Given the description of an element on the screen output the (x, y) to click on. 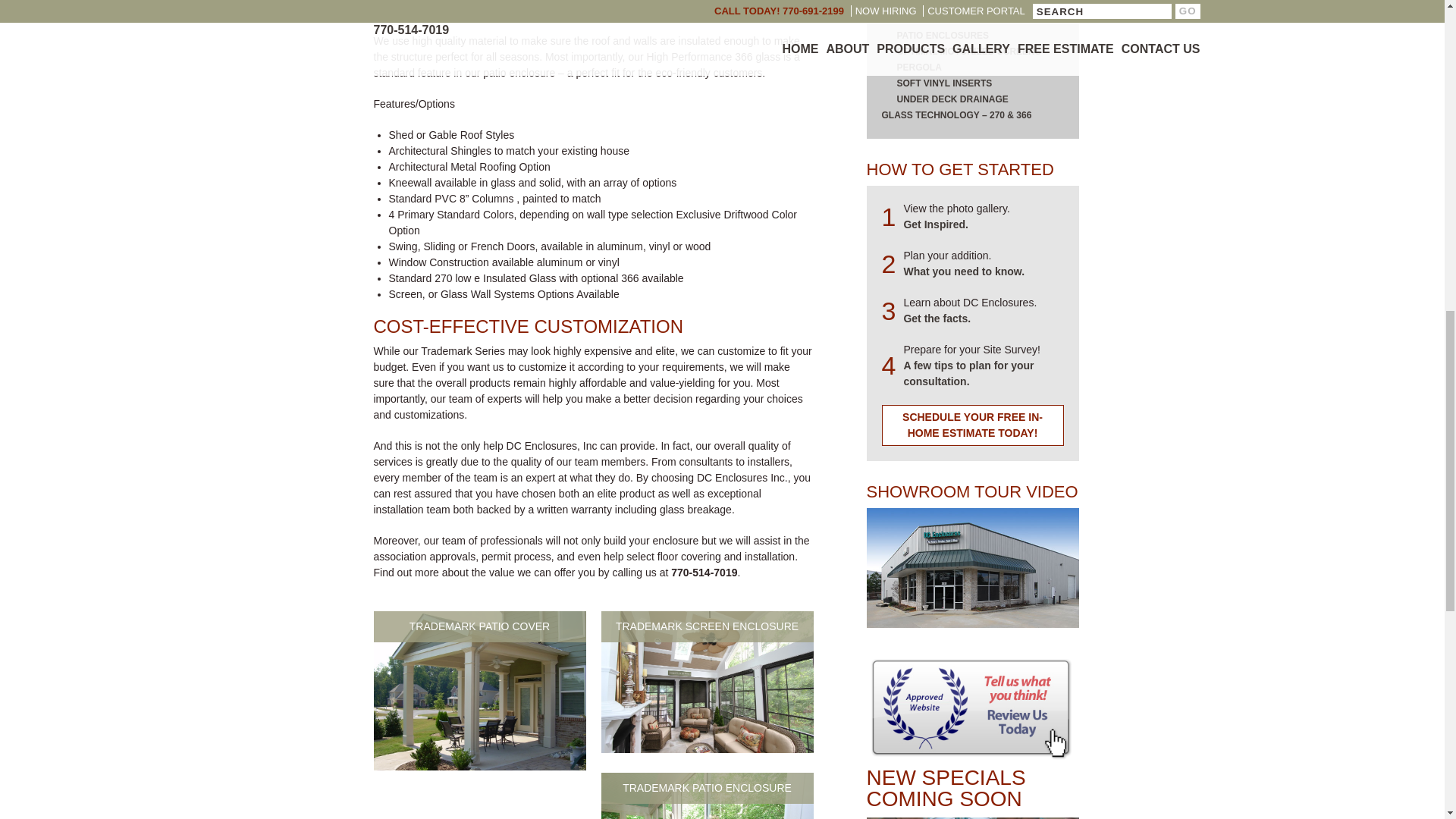
DC Difference (936, 318)
Products (962, 271)
Trademark (972, 567)
Site Survey (967, 373)
Trademark Patio Enclosure (705, 796)
Trademark Patio Cover (478, 690)
TRADEMARK SCREEN ENCLOSURE (705, 748)
Trademark Screen Enclosure (705, 681)
TRADEMARK PATIO COVER (478, 766)
